Given the description of an element on the screen output the (x, y) to click on. 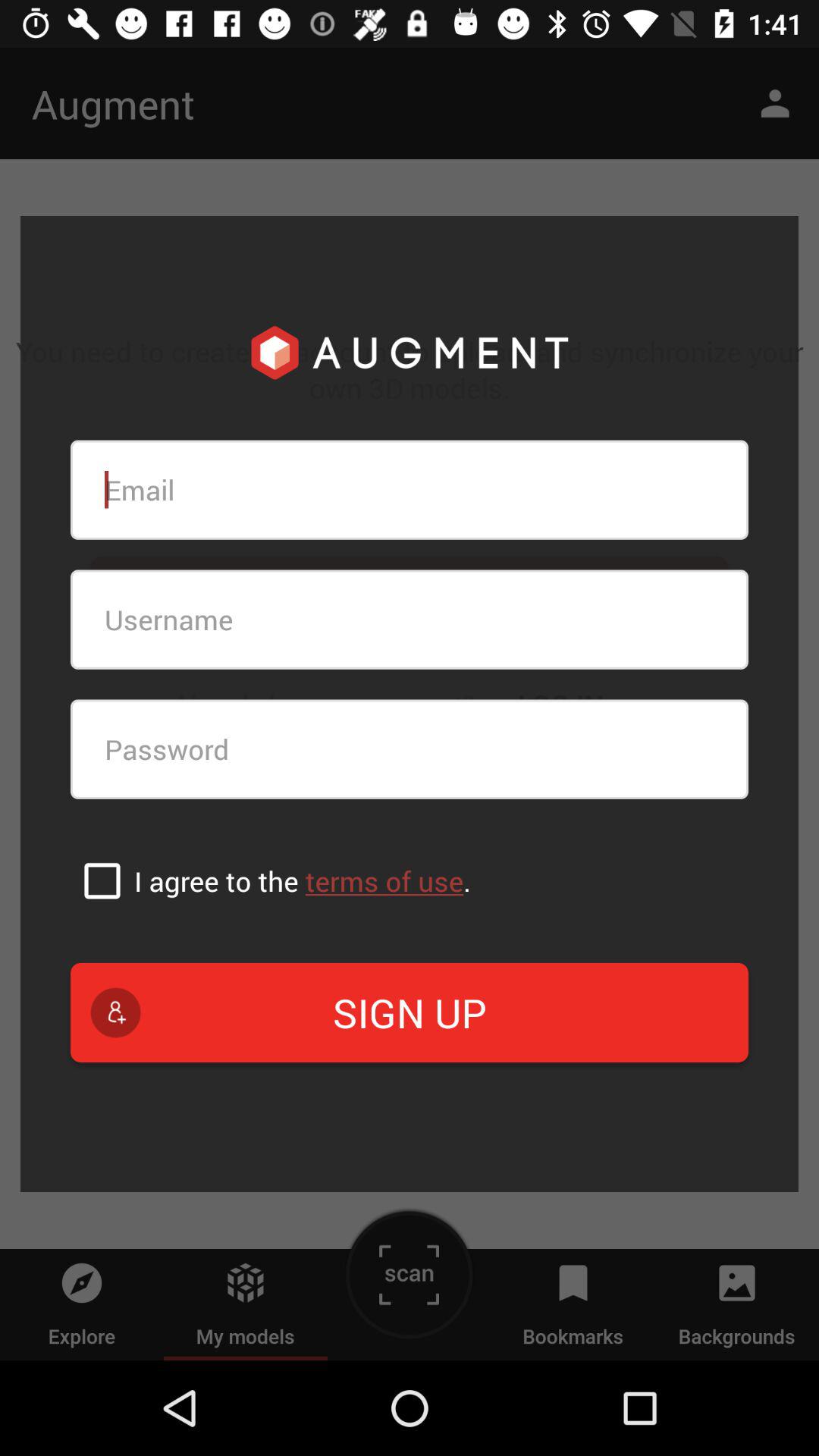
enter username (409, 619)
